Given the description of an element on the screen output the (x, y) to click on. 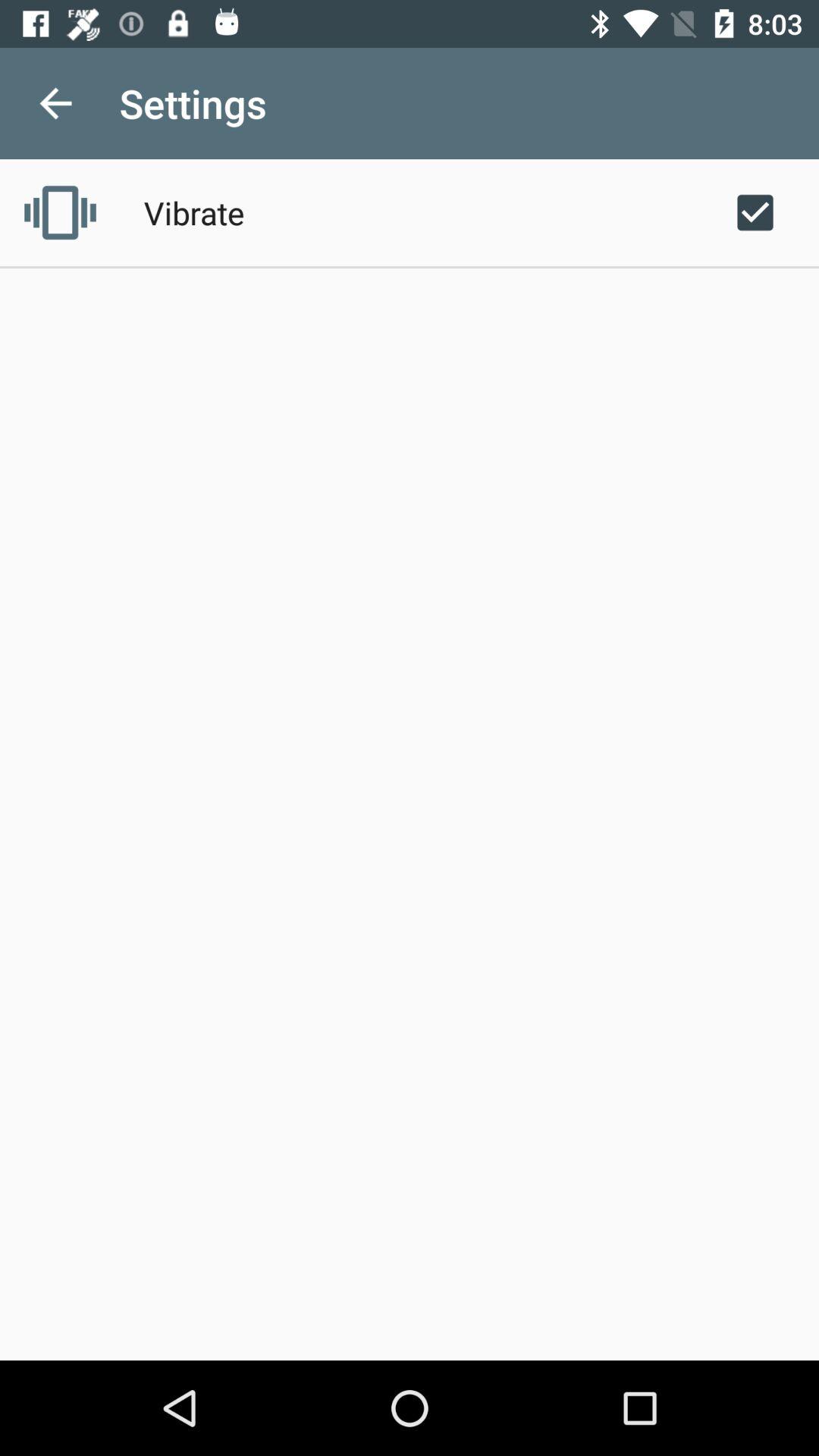
tap the icon at the top right corner (755, 212)
